Given the description of an element on the screen output the (x, y) to click on. 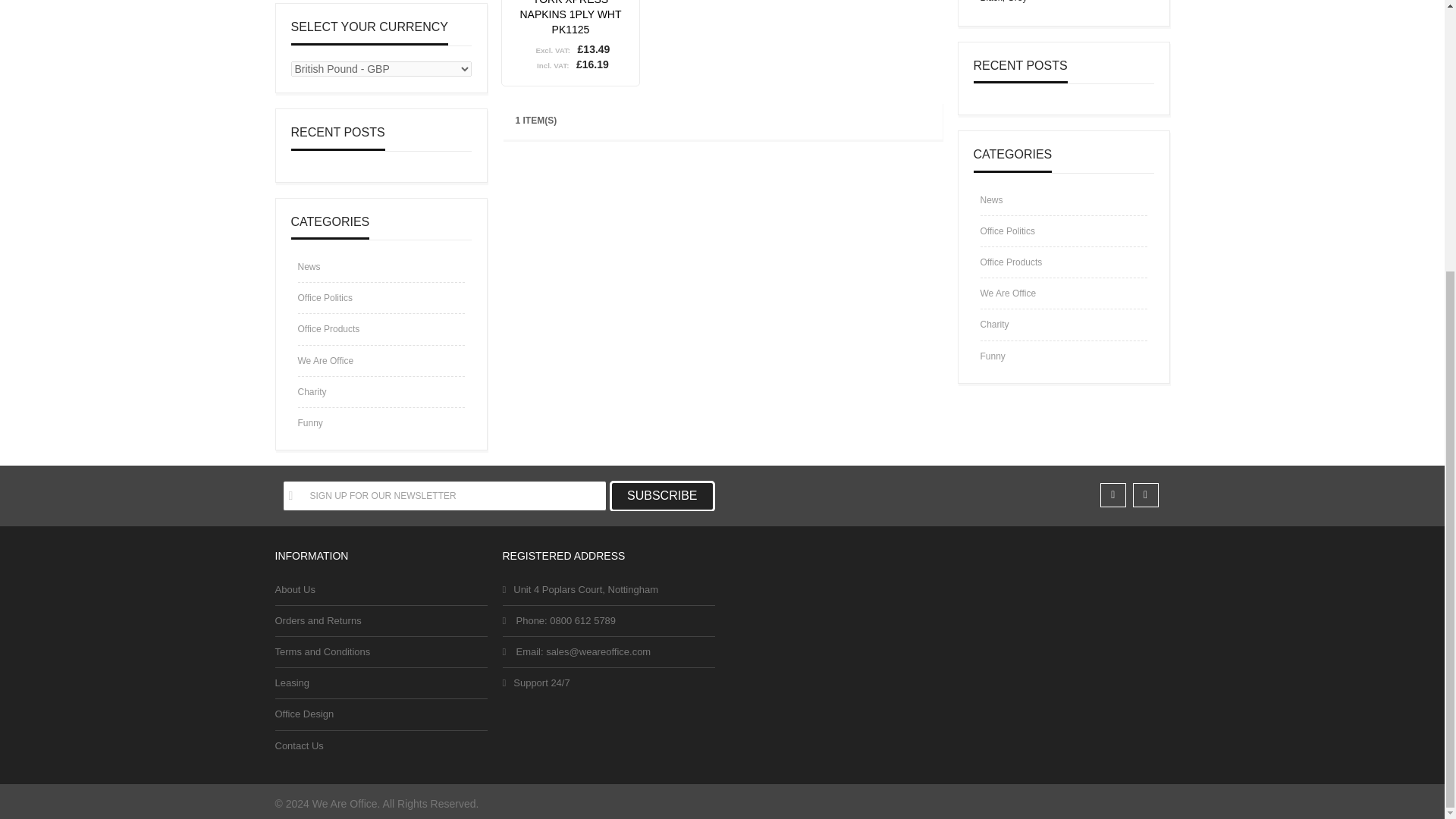
TORK XPRESS NAPKINS 1PLY WHT PK1125 (570, 17)
Select Your Currency (381, 68)
